Given the description of an element on the screen output the (x, y) to click on. 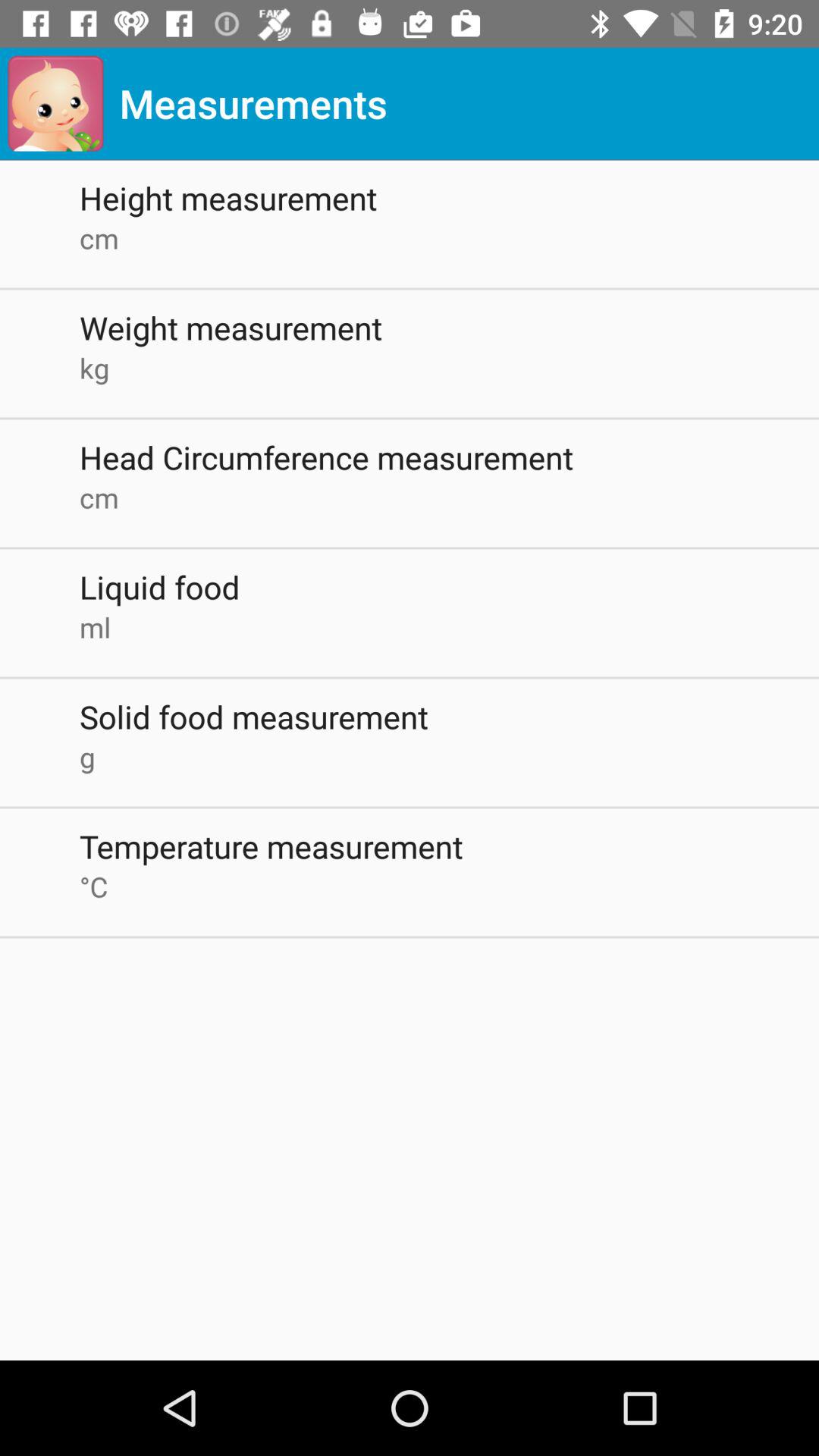
turn on solid food measurement app (449, 716)
